Given the description of an element on the screen output the (x, y) to click on. 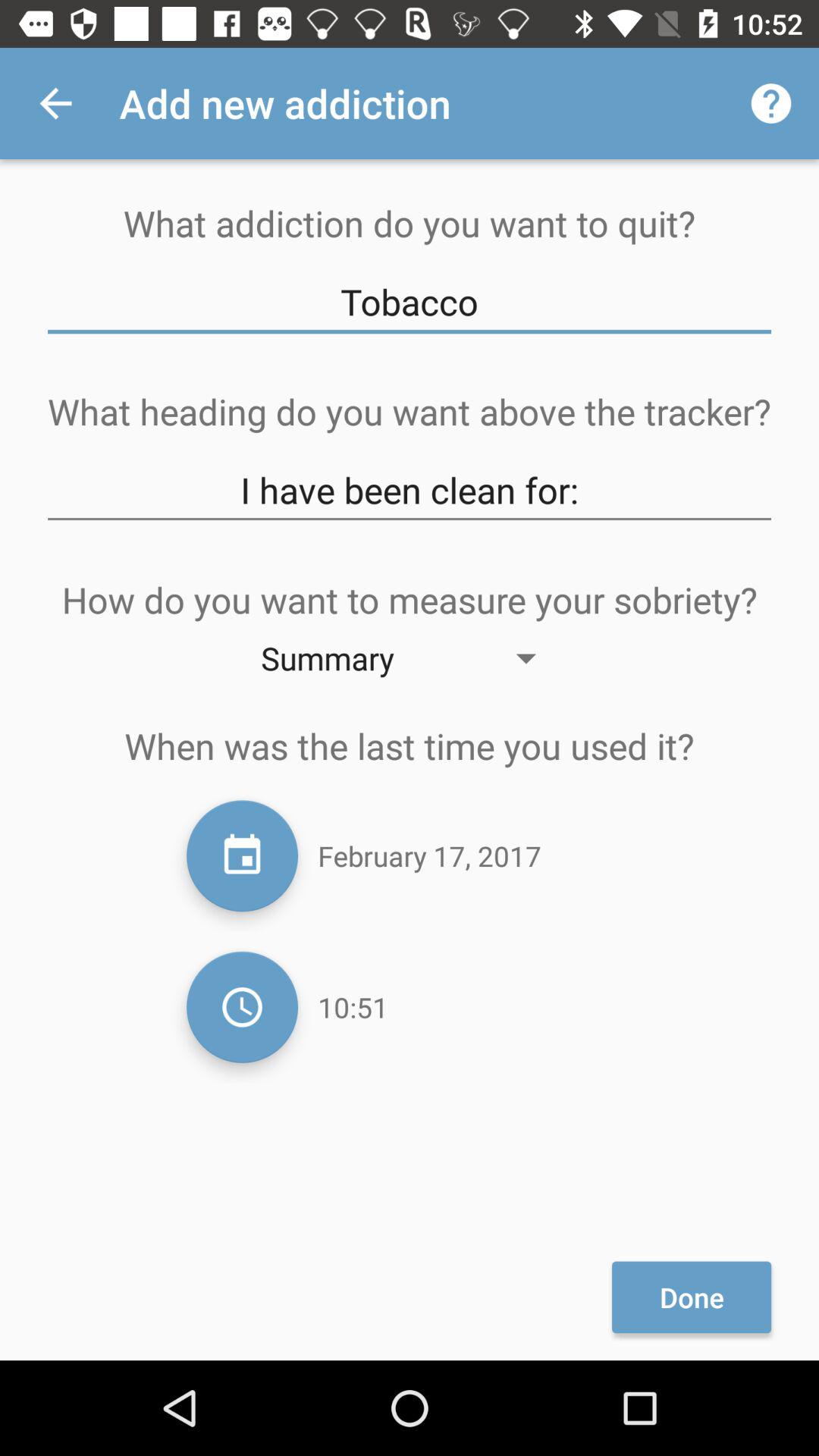
date last used (242, 855)
